Given the description of an element on the screen output the (x, y) to click on. 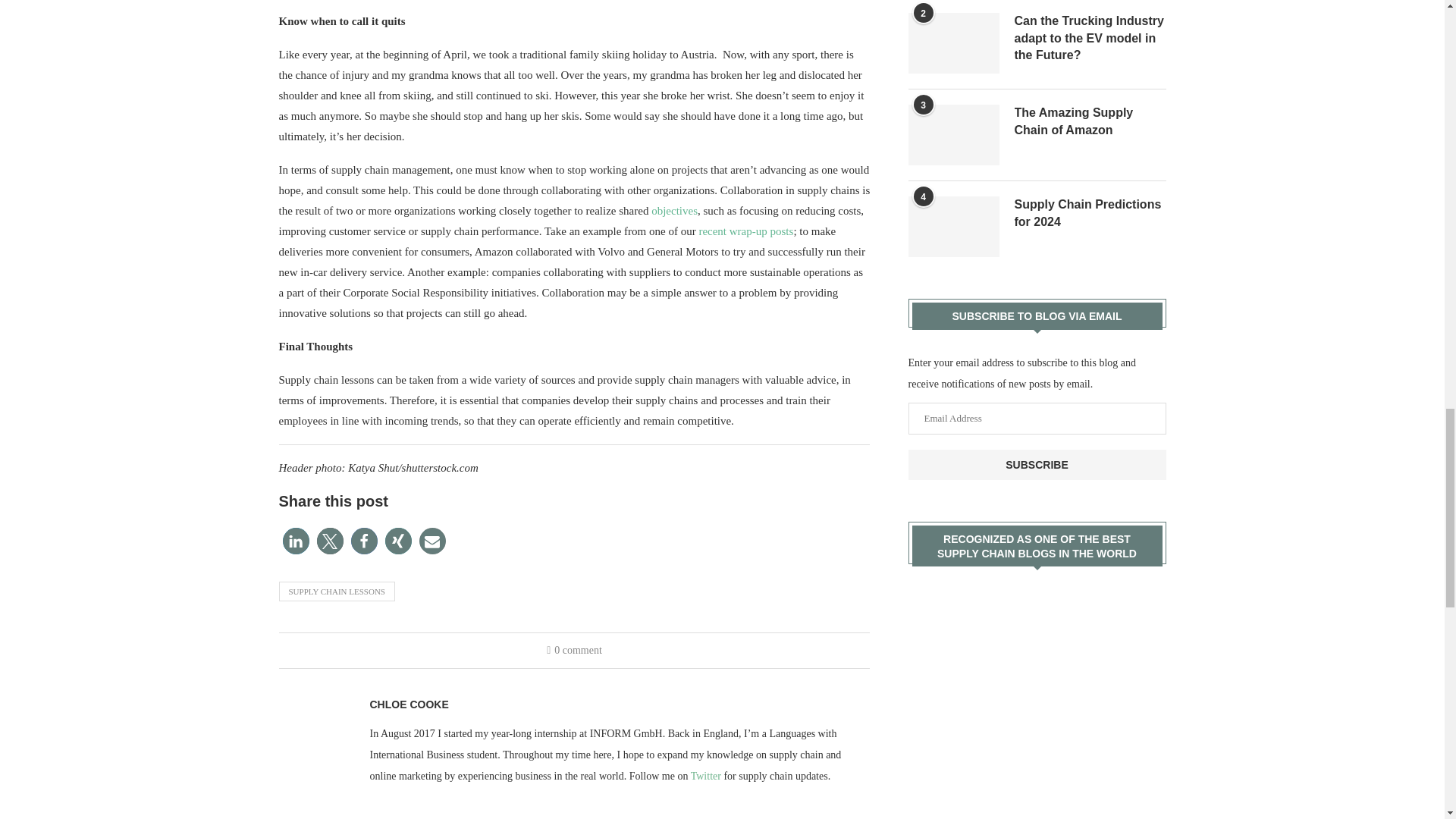
Share on LinkedIn (295, 540)
Send by email (432, 540)
Share on X (330, 540)
recent wrap-up posts (745, 231)
Share on XING (398, 540)
Share on Facebook (363, 540)
objectives (673, 210)
Author Chloe Cooke (408, 704)
